Given the description of an element on the screen output the (x, y) to click on. 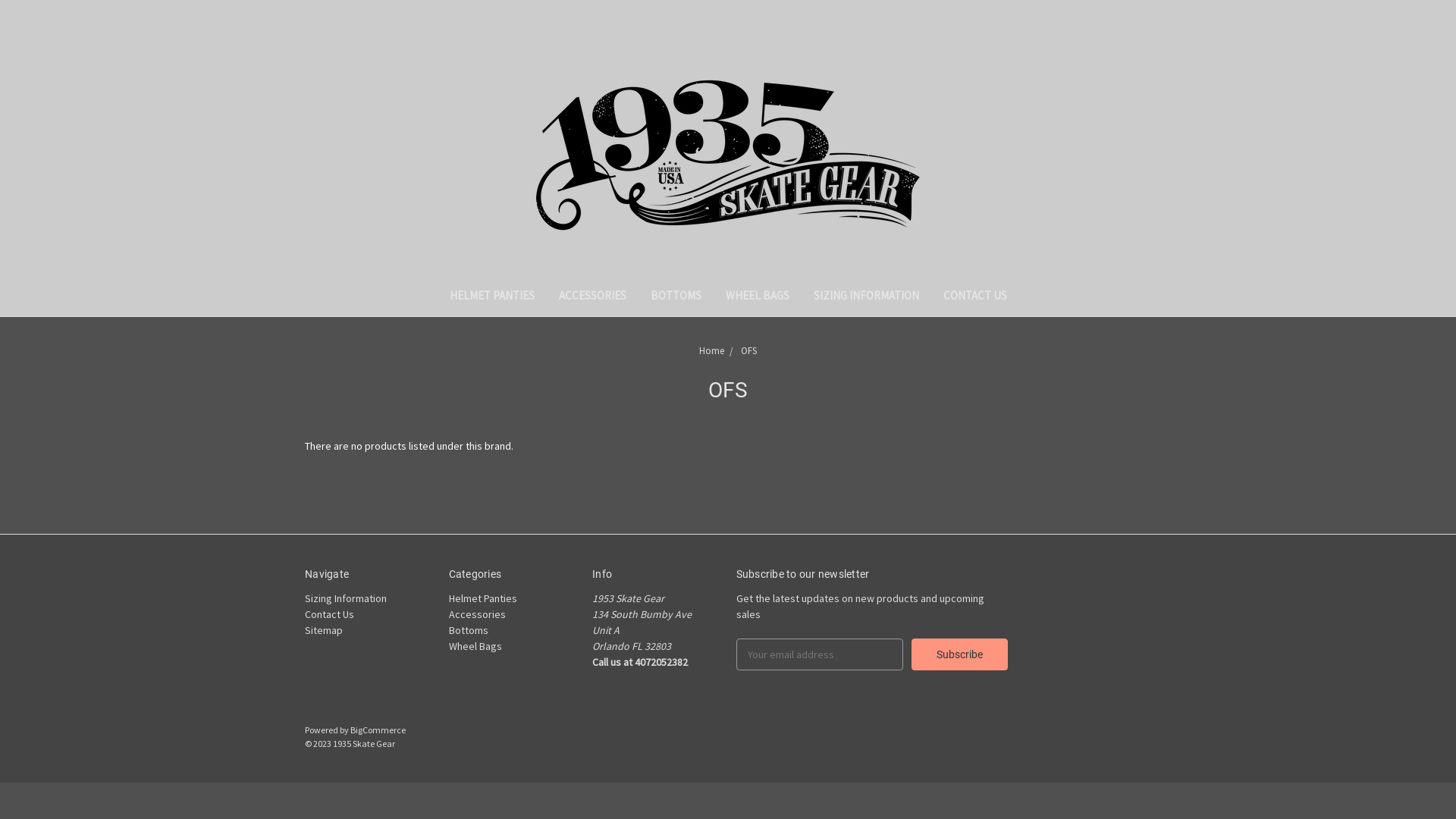
WHEEL BAGS Element type: text (756, 297)
Accessories Element type: text (476, 614)
Sitemap Element type: text (323, 630)
BigCommerce Element type: text (377, 729)
ACCESSORIES Element type: text (591, 297)
Helmet Panties Element type: text (482, 598)
SIGN IN Element type: text (1321, 18)
REGISTER Element type: text (1375, 18)
CONTACT US Element type: text (975, 297)
SIZING INFORMATION Element type: text (865, 297)
SEARCH Element type: text (1171, 18)
Wheel Bags Element type: text (475, 645)
Home Element type: text (711, 350)
HELMET PANTIES Element type: text (491, 297)
Bottoms Element type: text (468, 630)
BOTTOMS Element type: text (675, 297)
GIFT CERTIFICATES Element type: text (1247, 18)
CART Element type: text (1419, 18)
1935 Skate Gear Element type: hover (727, 155)
Subscribe Element type: text (959, 654)
Sizing Information Element type: text (345, 598)
Contact Us Element type: text (329, 614)
